Given the description of an element on the screen output the (x, y) to click on. 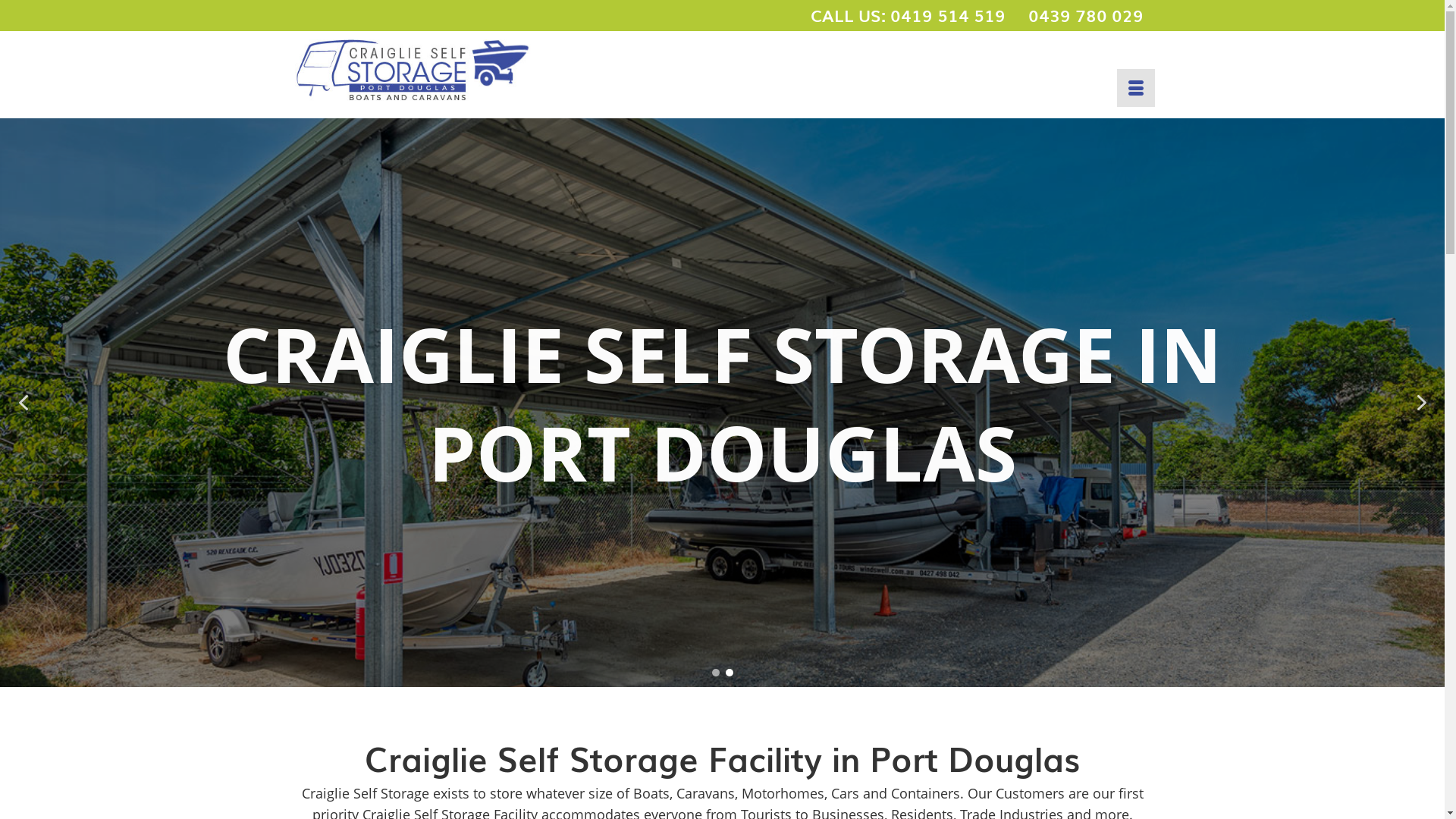
Menu Element type: hover (1135, 87)
CALL US: Element type: text (849, 14)
0419 514 519     0439 780 029 Element type: text (1016, 14)
Craiglie Self Storage Element type: hover (425, 68)
